Given the description of an element on the screen output the (x, y) to click on. 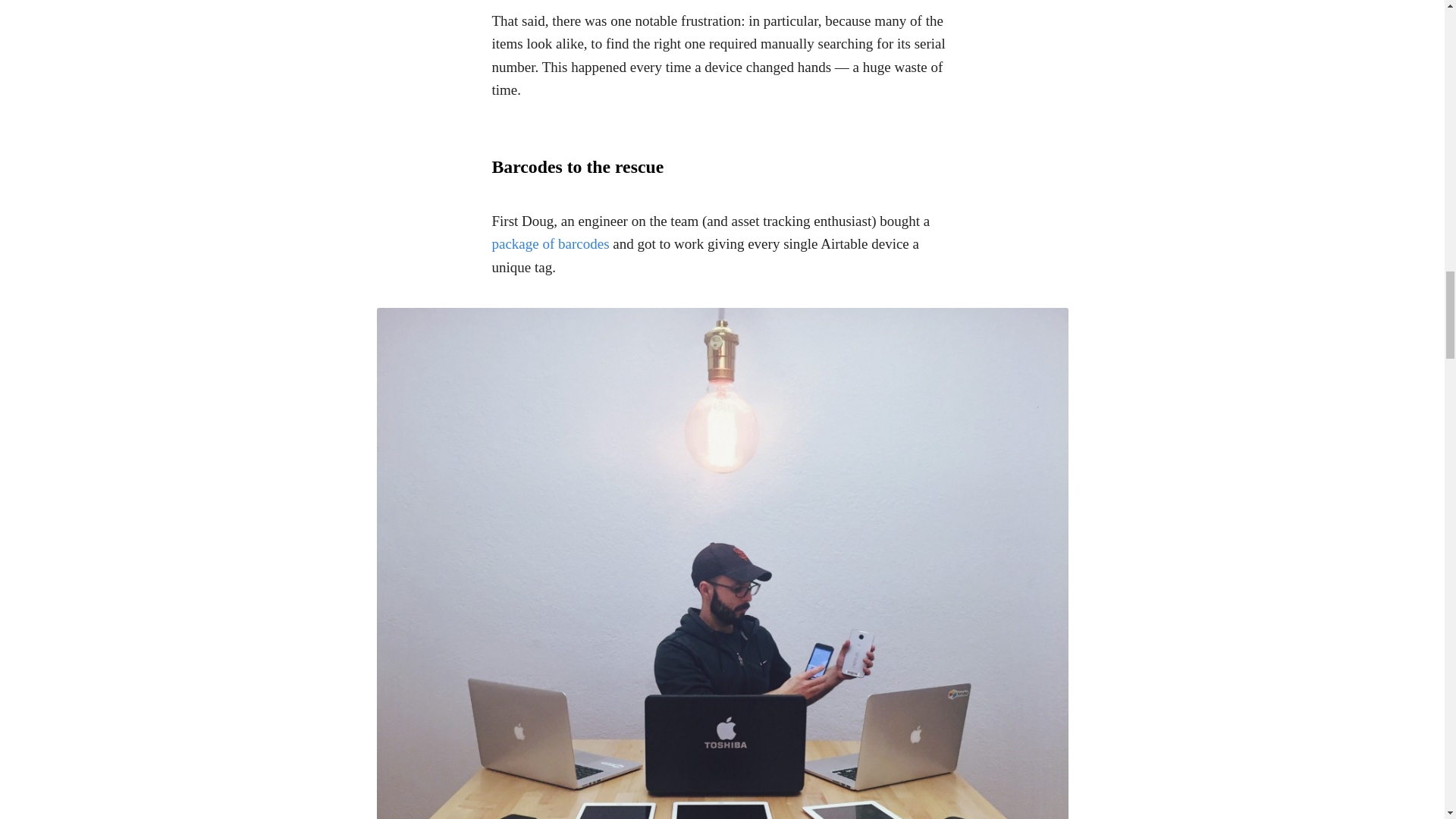
package of barcodes (550, 243)
